Given the description of an element on the screen output the (x, y) to click on. 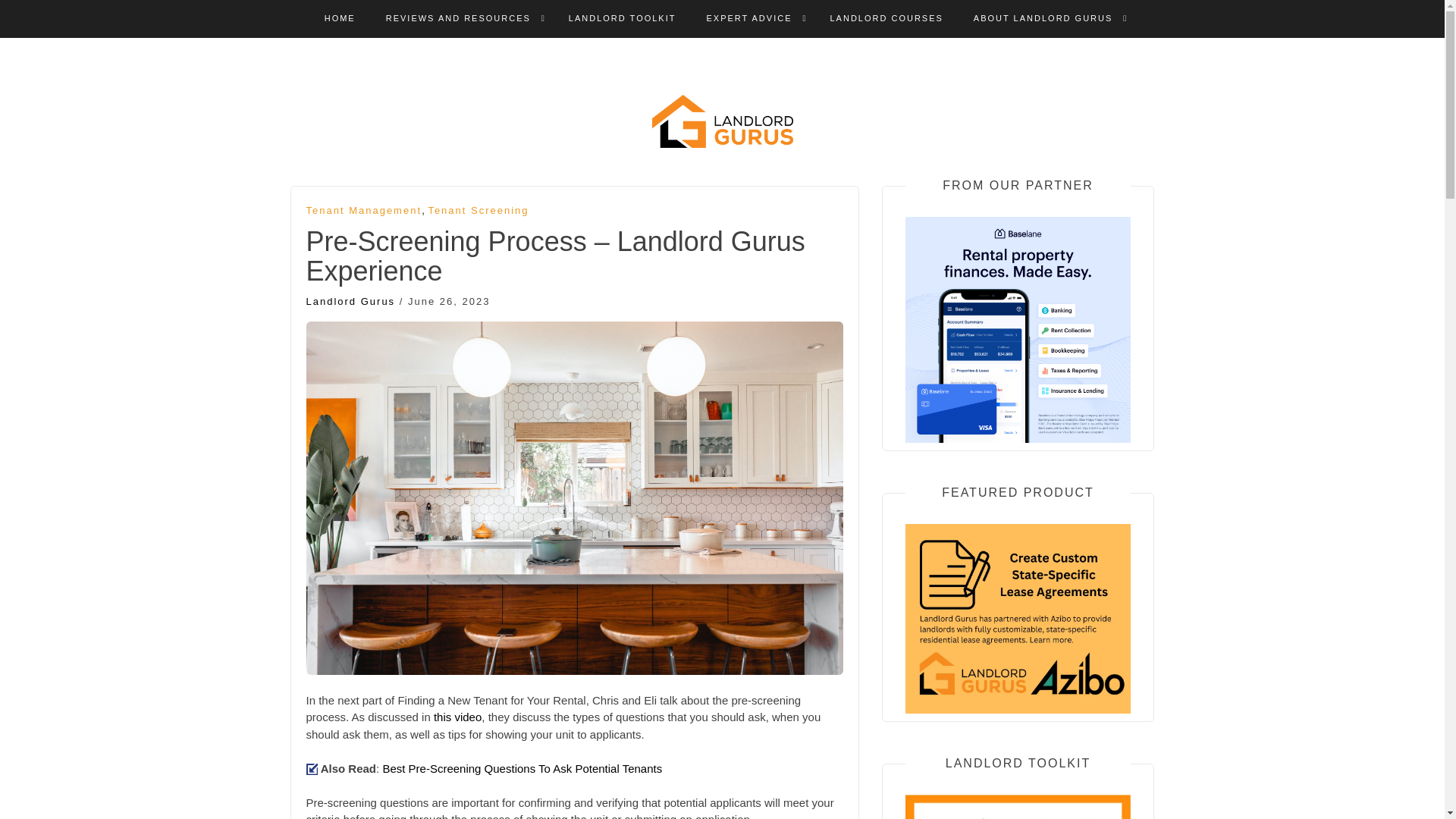
REVIEWS AND RESOURCES (458, 18)
this video (457, 716)
EXPERT ADVICE (749, 18)
Landlord Gurus (350, 301)
Best Pre-Screening Questions To Ask Potential Tenants (521, 768)
Tenant Screening (478, 210)
LANDLORD TOOLKIT (623, 18)
Tenant Management (363, 210)
LANDLORD COURSES (885, 18)
ABOUT LANDLORD GURUS (1043, 18)
